Given the description of an element on the screen output the (x, y) to click on. 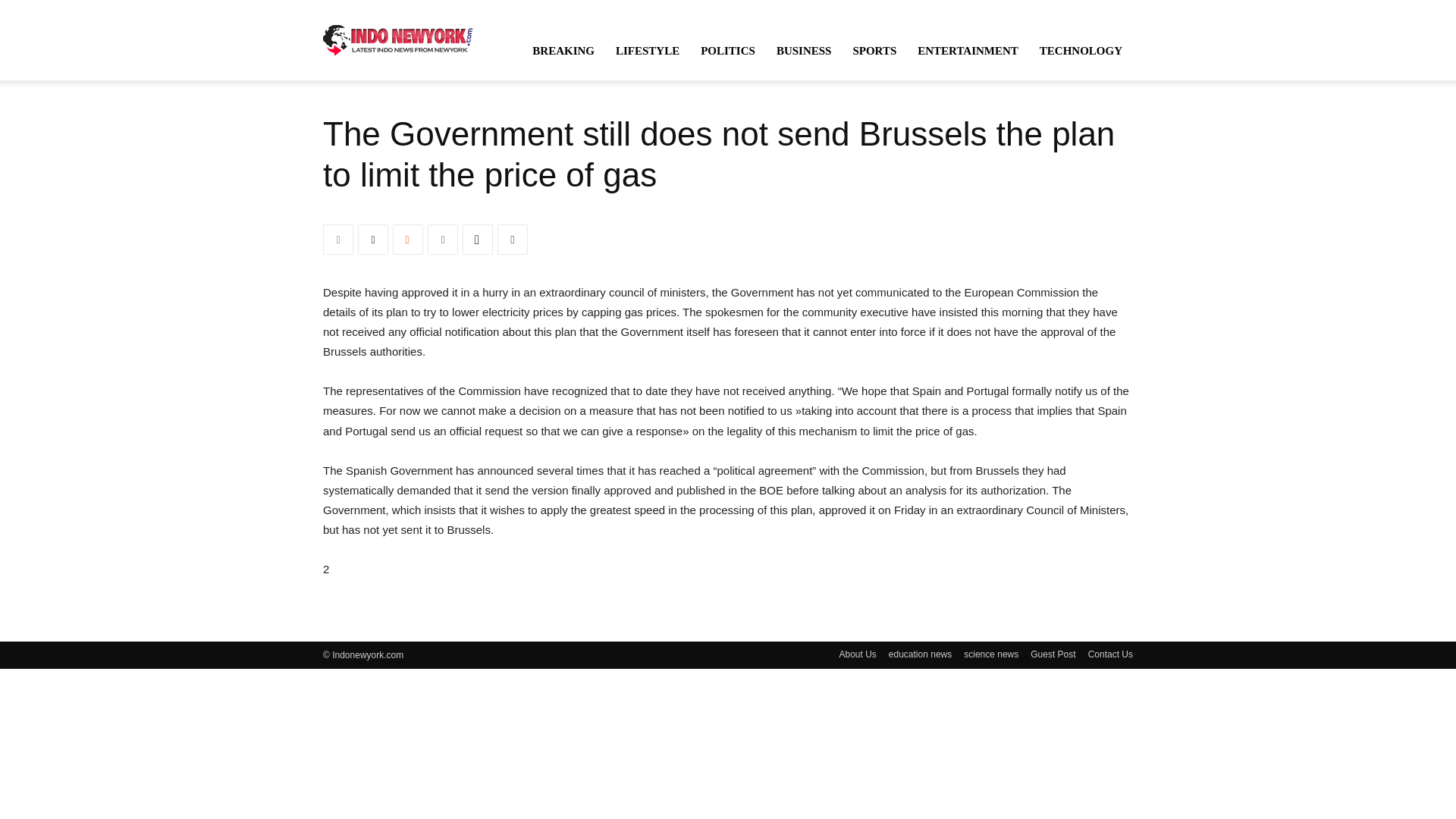
ENTERTAINMENT (968, 50)
Guest Post (1052, 653)
BREAKING (563, 50)
Tumblr (443, 239)
Contact Us (1109, 653)
education news (920, 653)
Digg (478, 239)
Facebook (338, 239)
Indo Newyork (398, 39)
About Us (857, 653)
